Given the description of an element on the screen output the (x, y) to click on. 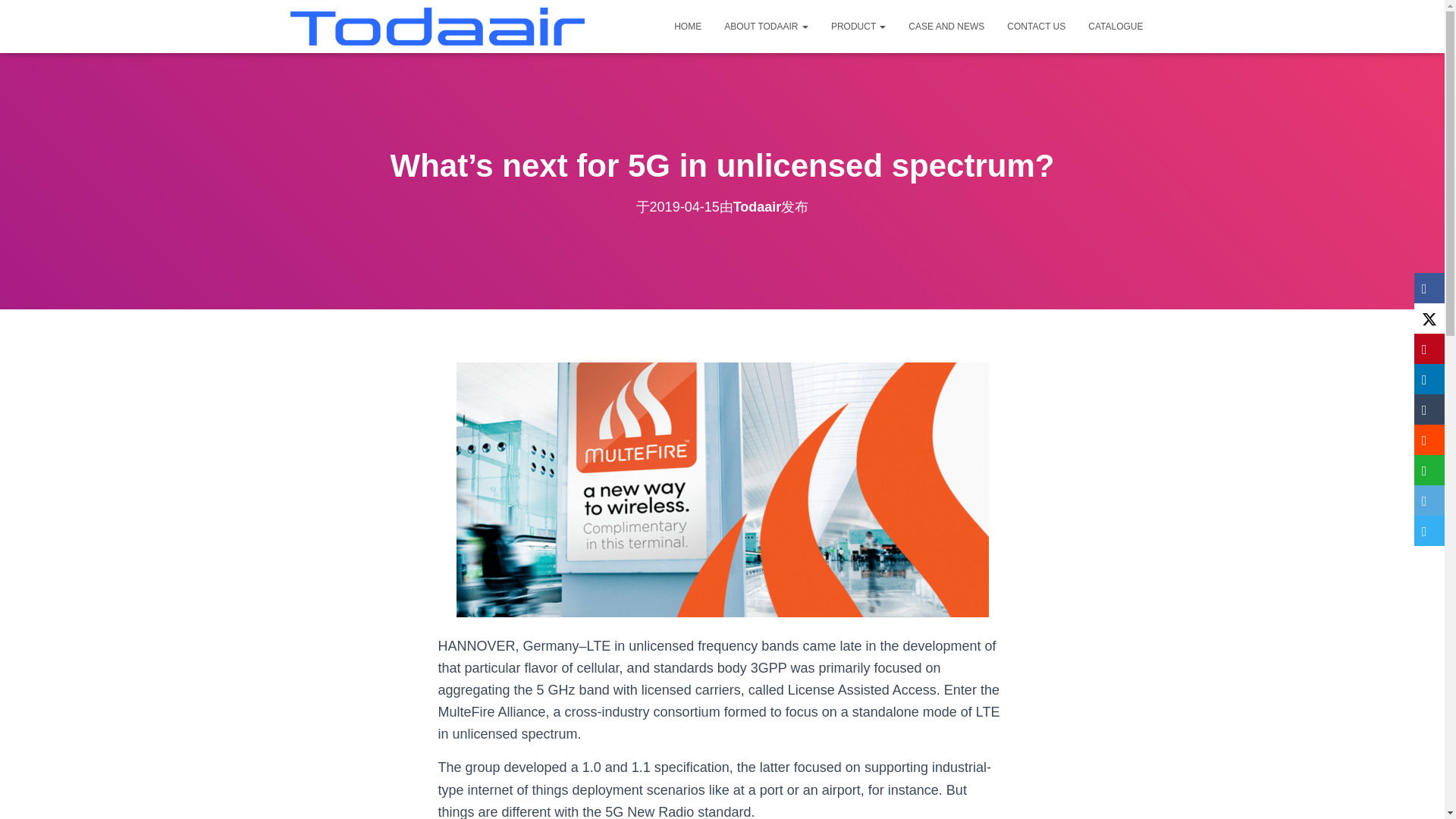
Case and News (945, 26)
ABOUT TODAAIR (766, 26)
CATALOGUE (1115, 26)
Todaair (757, 206)
About Todaair (766, 26)
PRODUCT (857, 26)
Catalogue (1115, 26)
Todaair (437, 26)
Home (687, 26)
CONTACT US (1036, 26)
CONTACT US (1036, 26)
Product (857, 26)
HOME (687, 26)
CASE AND NEWS (945, 26)
